Given the description of an element on the screen output the (x, y) to click on. 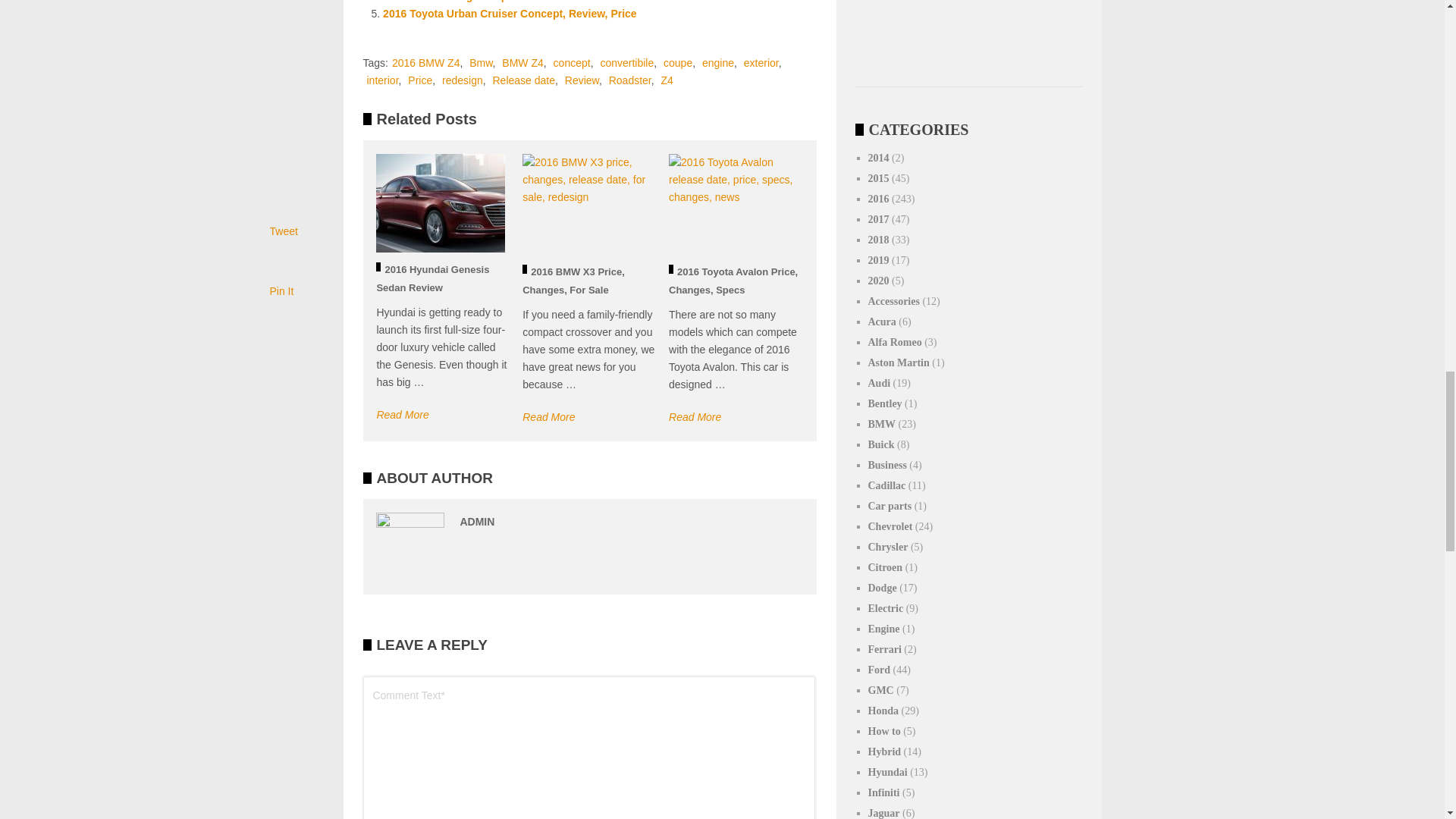
2016 Hyundai Genesis Sedan Review (432, 278)
redesign (462, 80)
Review (581, 80)
exterior (761, 62)
Roadster (629, 80)
convertibile (626, 62)
BMW Z4 (522, 62)
2016 BMW Z4 (425, 62)
interior (382, 80)
Read More (401, 414)
2016 Toyota Urban Cruiser Concept, Review, Price (509, 13)
2016 Toyota Urban Cruiser Concept, Review, Price (509, 13)
Bmw (480, 62)
